Given the description of an element on the screen output the (x, y) to click on. 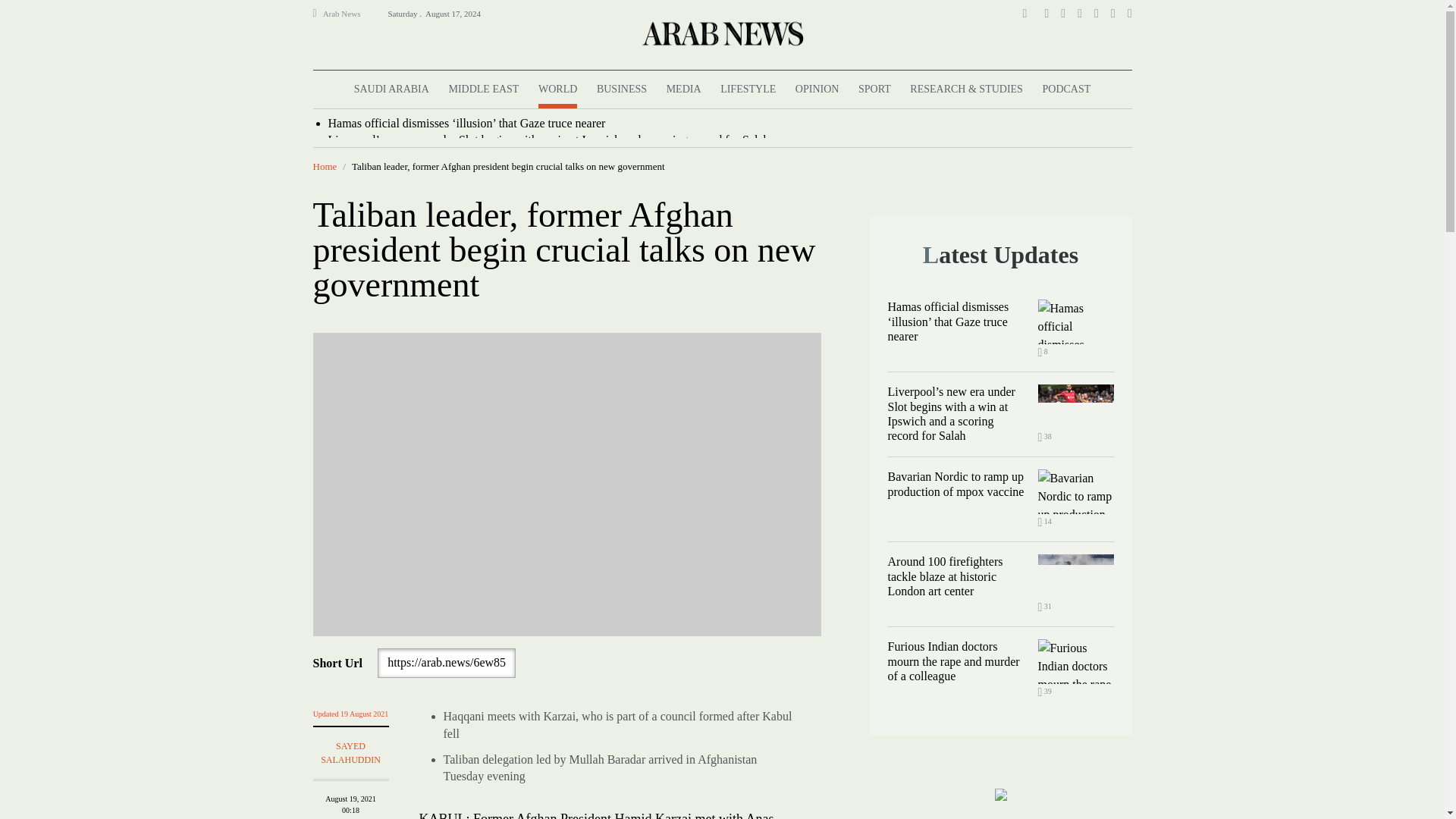
Bavarian Nordic to ramp up production of mpox vaccine (1074, 491)
Arab News (348, 13)
Arabnews (721, 33)
